Given the description of an element on the screen output the (x, y) to click on. 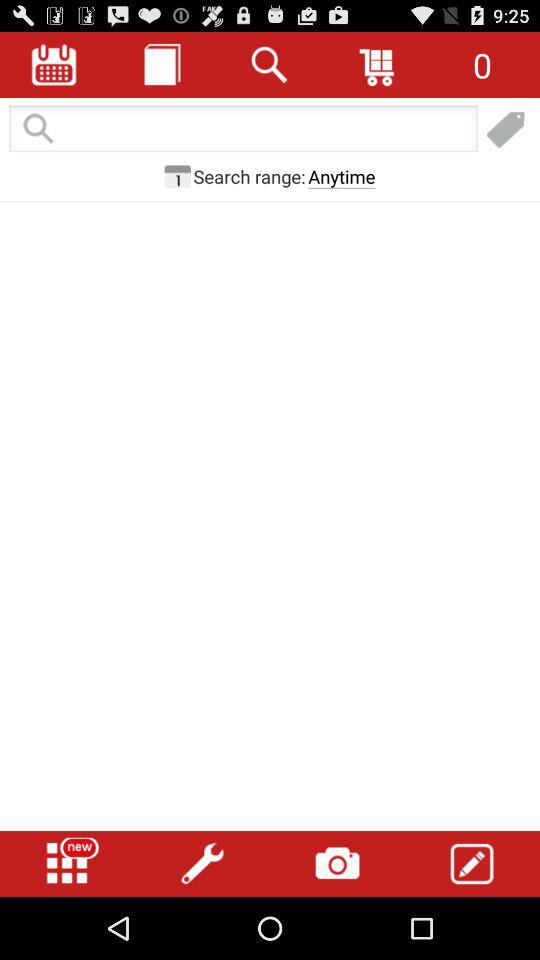
open menu options (67, 863)
